Given the description of an element on the screen output the (x, y) to click on. 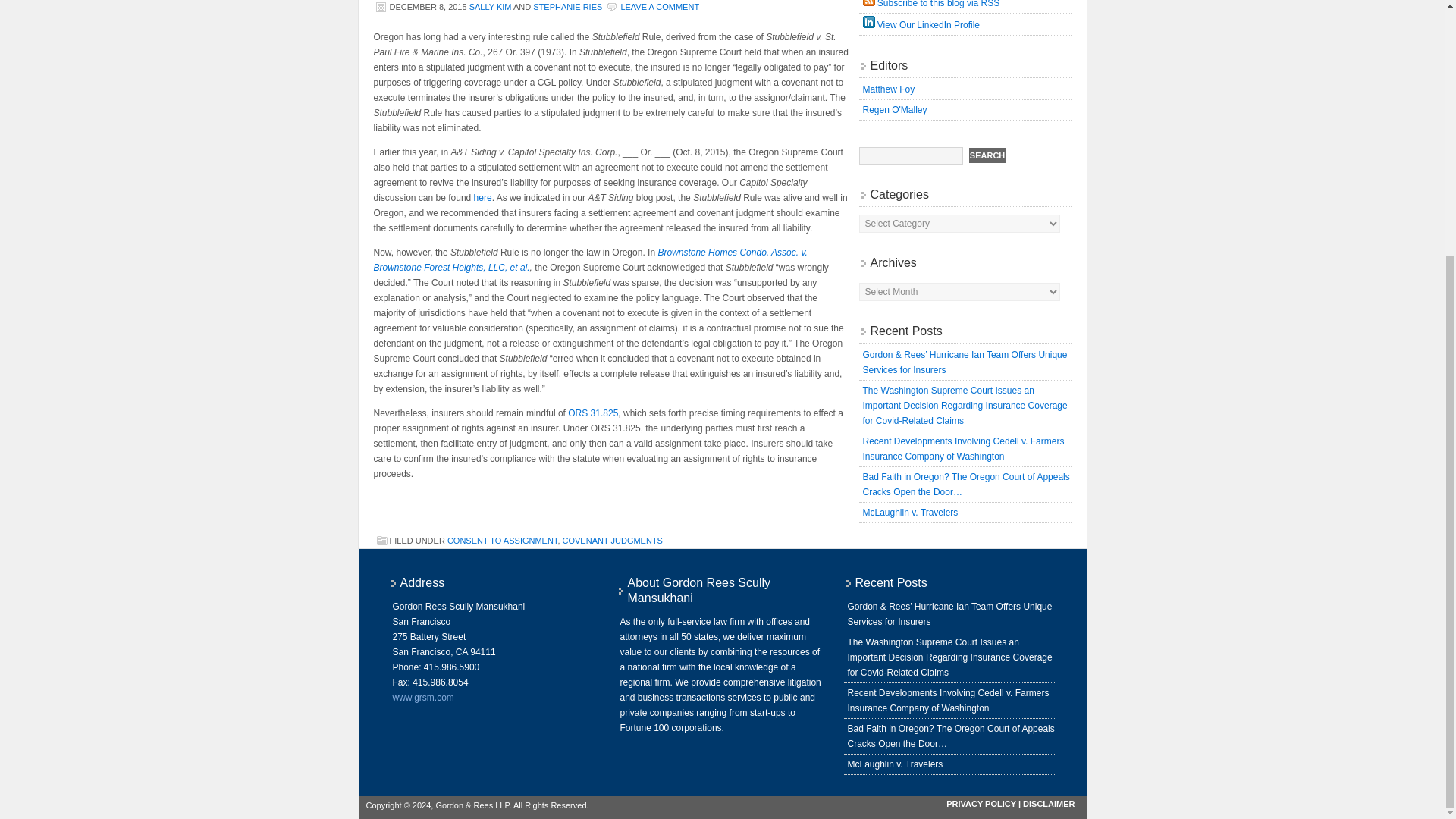
here (483, 197)
Search (987, 155)
Posts by Stephanie Ries (567, 6)
ORS 31.825 (592, 412)
PRIVACY POLICY (981, 803)
COVENANT JUDGMENTS (612, 540)
CONSENT TO ASSIGNMENT (501, 540)
Matthew Foy (889, 89)
View Our LinkedIn Profile (921, 24)
Search (987, 155)
McLaughlin v. Travelers (910, 511)
STEPHANIE RIES (567, 6)
